Given the description of an element on the screen output the (x, y) to click on. 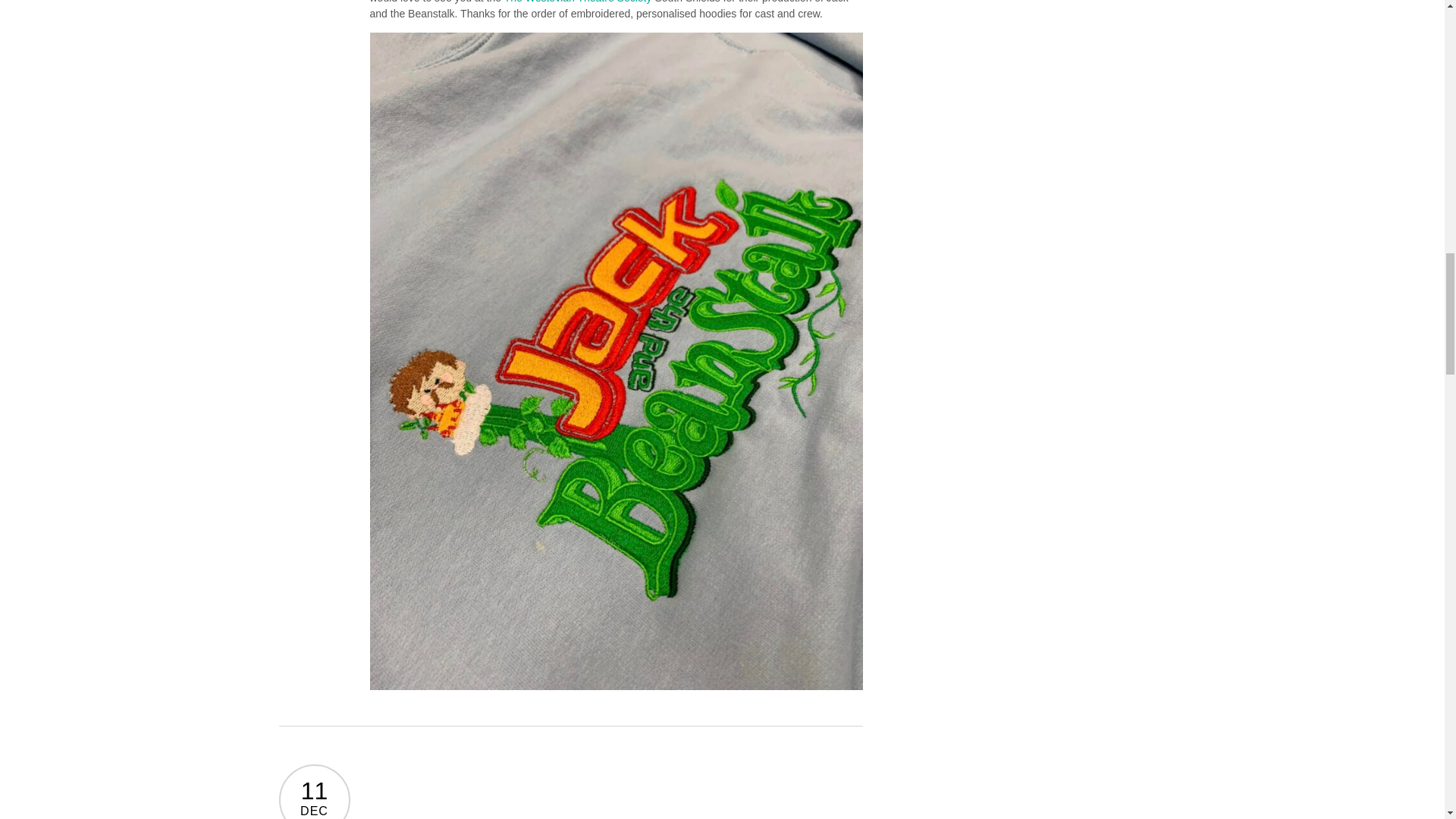
The Westovian Theatre Society (577, 2)
